Given the description of an element on the screen output the (x, y) to click on. 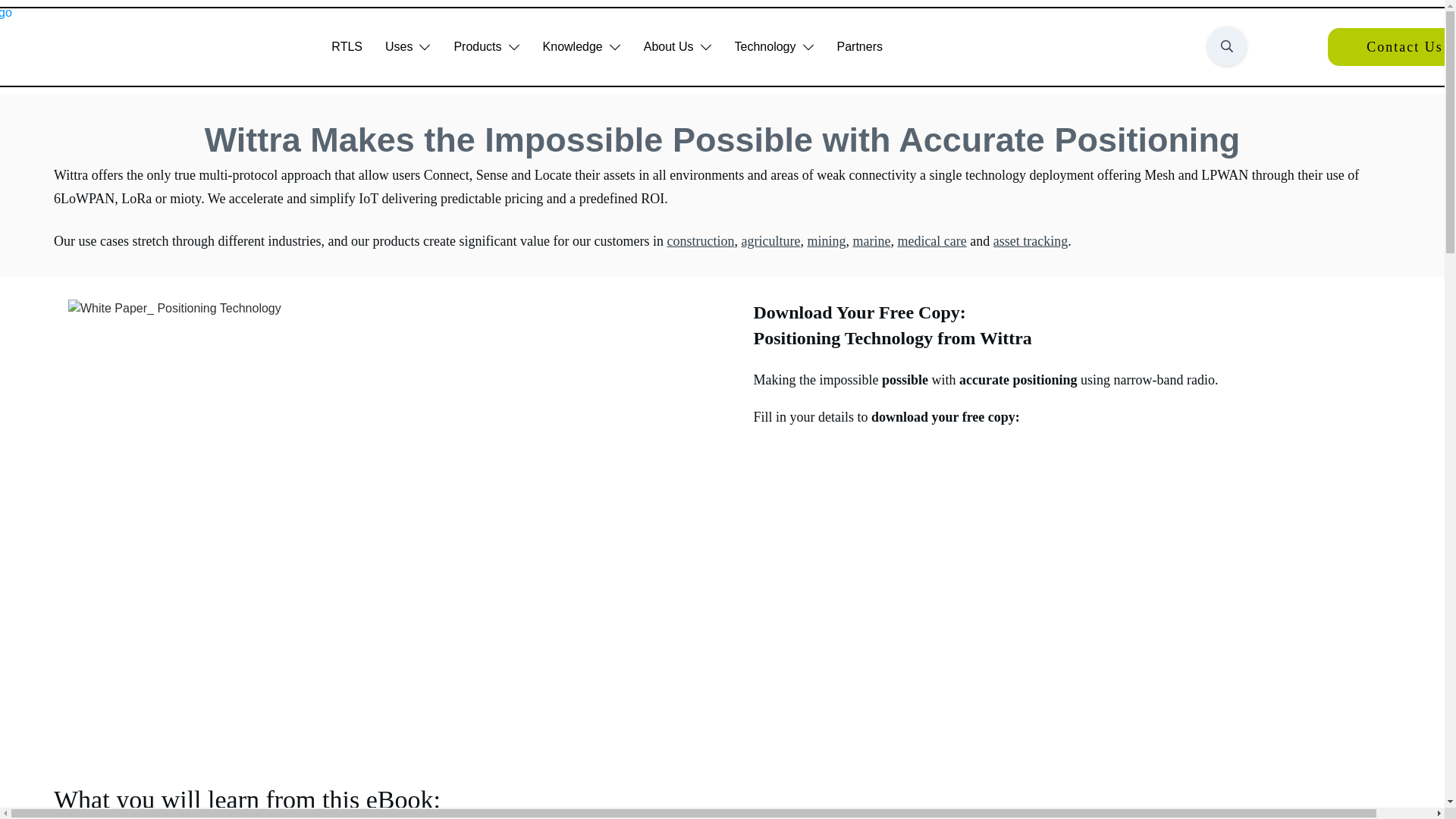
Knowledge (582, 46)
Uses (407, 46)
Products (485, 46)
RTLS (346, 46)
